Given the description of an element on the screen output the (x, y) to click on. 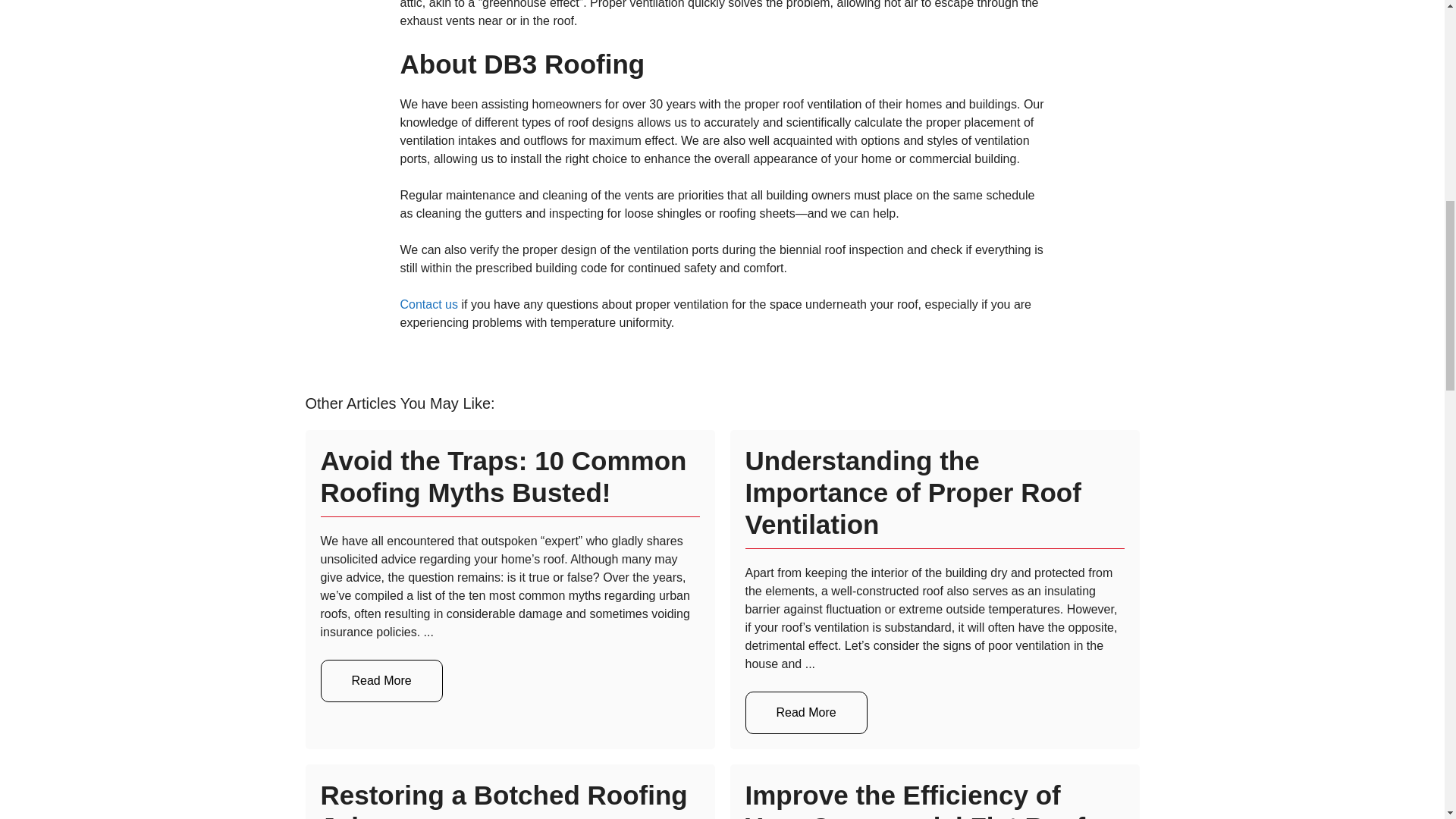
Read More (805, 712)
Contact us (429, 304)
Read More (381, 680)
